Given the description of an element on the screen output the (x, y) to click on. 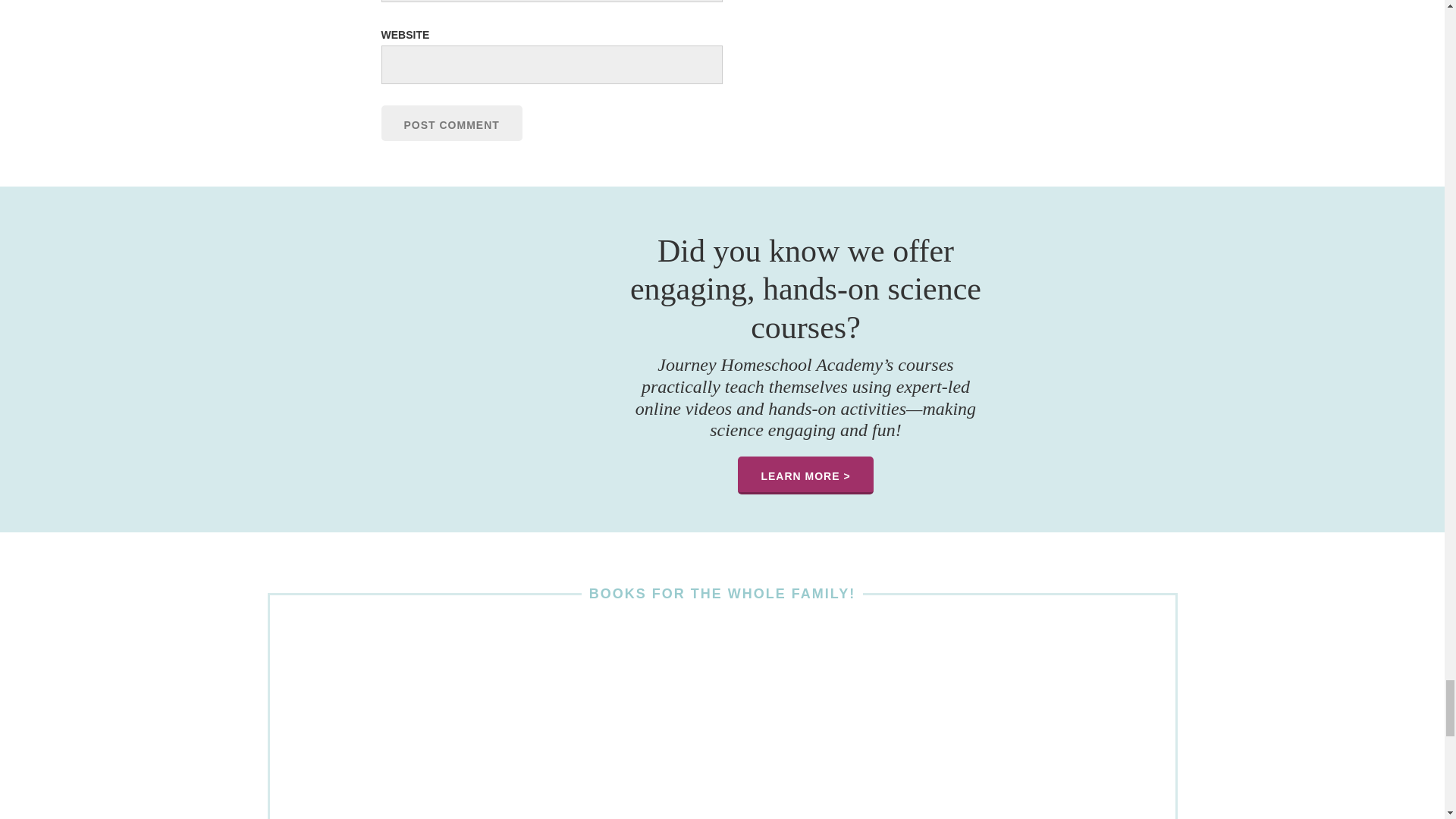
Post Comment (450, 122)
